Given the description of an element on the screen output the (x, y) to click on. 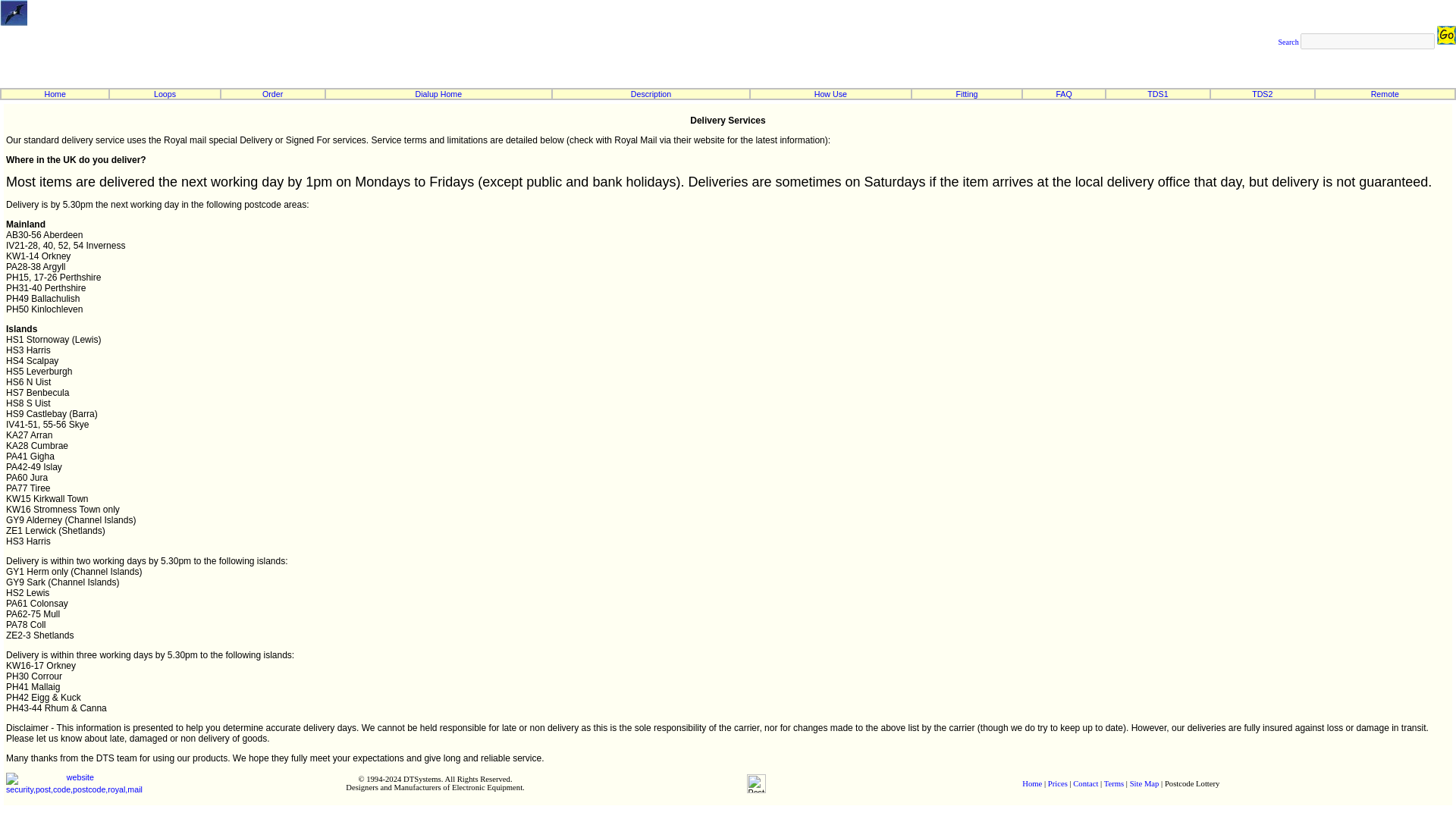
Postcode Lottery (13, 12)
Site Map (1143, 783)
Search (1288, 41)
Contact (1085, 783)
Home (1032, 783)
FAQ (1063, 93)
Thank you for visiting DTSystems (756, 783)
SiteLock (73, 783)
Terms (1113, 783)
Order (272, 93)
